Given the description of an element on the screen output the (x, y) to click on. 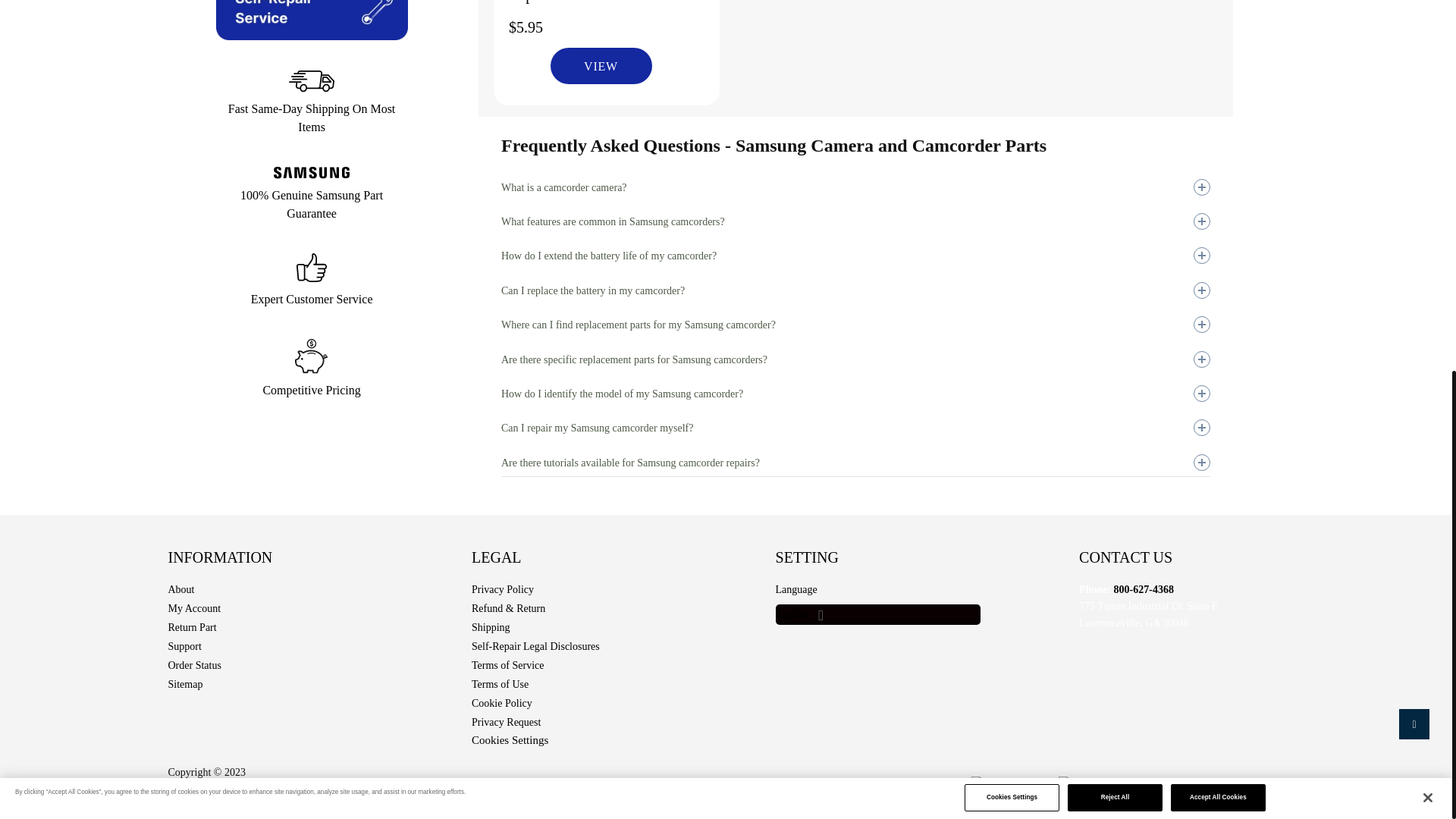
itemType (232, 94)
itemType (227, 185)
itemType (232, 33)
itemType (232, 245)
itemType (270, 124)
itemType (248, 9)
itemType (258, 215)
itemType (230, 155)
